Given the description of an element on the screen output the (x, y) to click on. 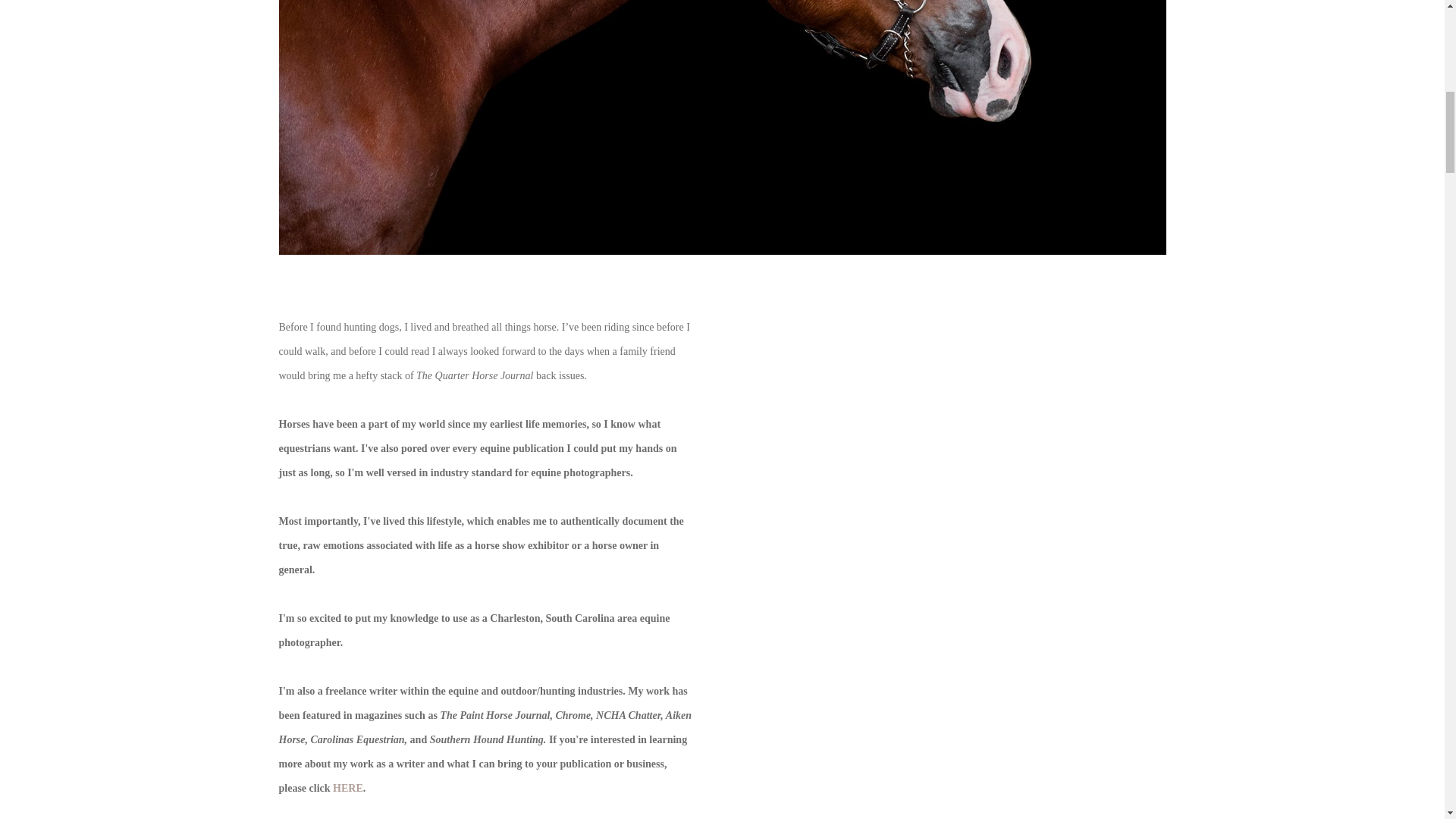
HERE (347, 787)
